Given the description of an element on the screen output the (x, y) to click on. 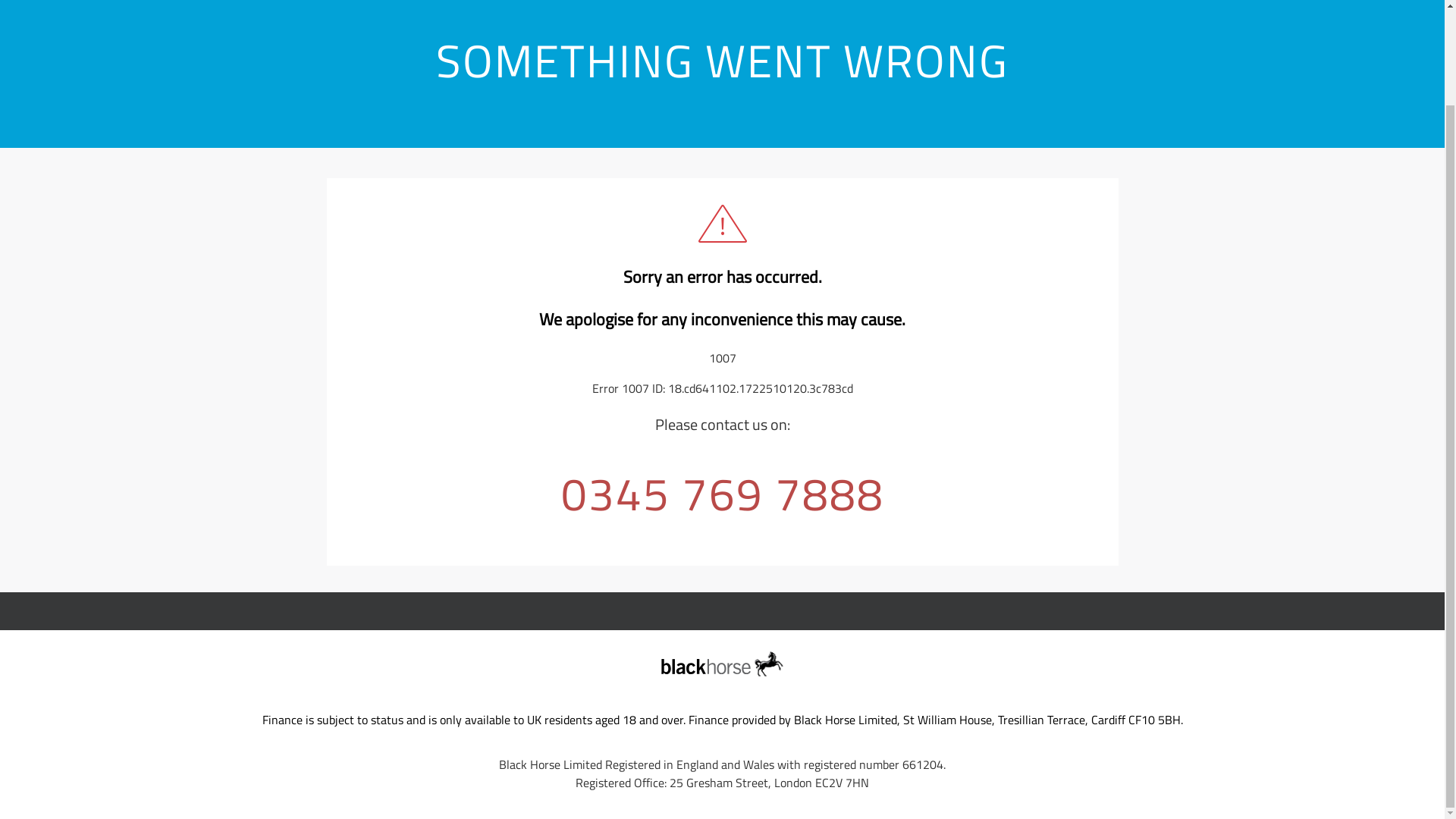
0345 769 7888 (721, 492)
A2D180D4-94A7-488A-B61E-D545A30BEA32 (722, 664)
